Given the description of an element on the screen output the (x, y) to click on. 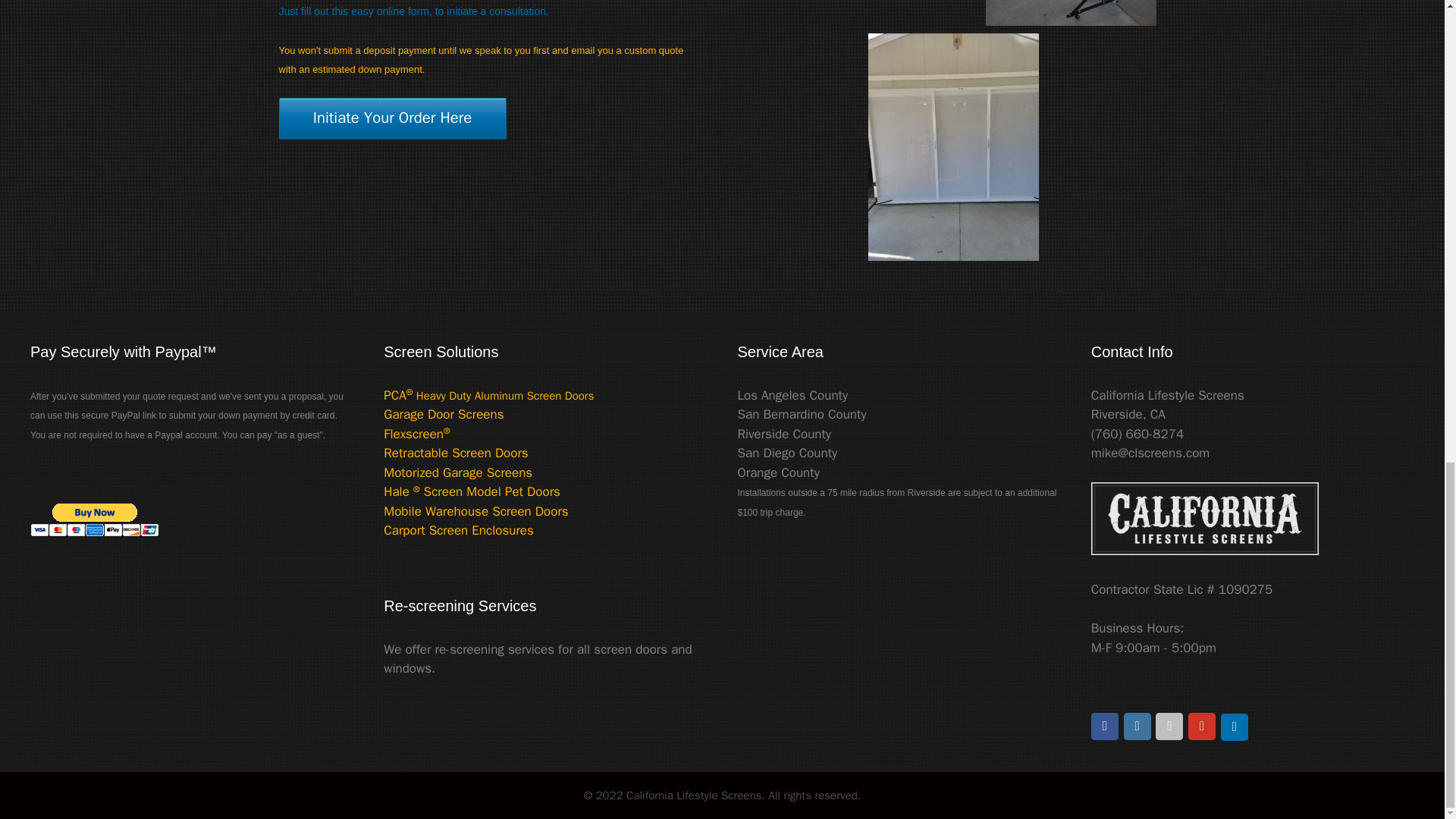
Phone  (1234, 727)
Mobile Warehouse Screen Doors (475, 511)
Retractable Screen Doors (455, 453)
Carport Screen Enclosures (459, 530)
Motorized Garage Screens (458, 472)
Initiate Your Order Here (392, 118)
Garage Door Screens (443, 414)
 on Envelope (1169, 726)
 on Instagram (1137, 726)
 on Facebook (1104, 726)
 on Youtube (1201, 726)
